Given the description of an element on the screen output the (x, y) to click on. 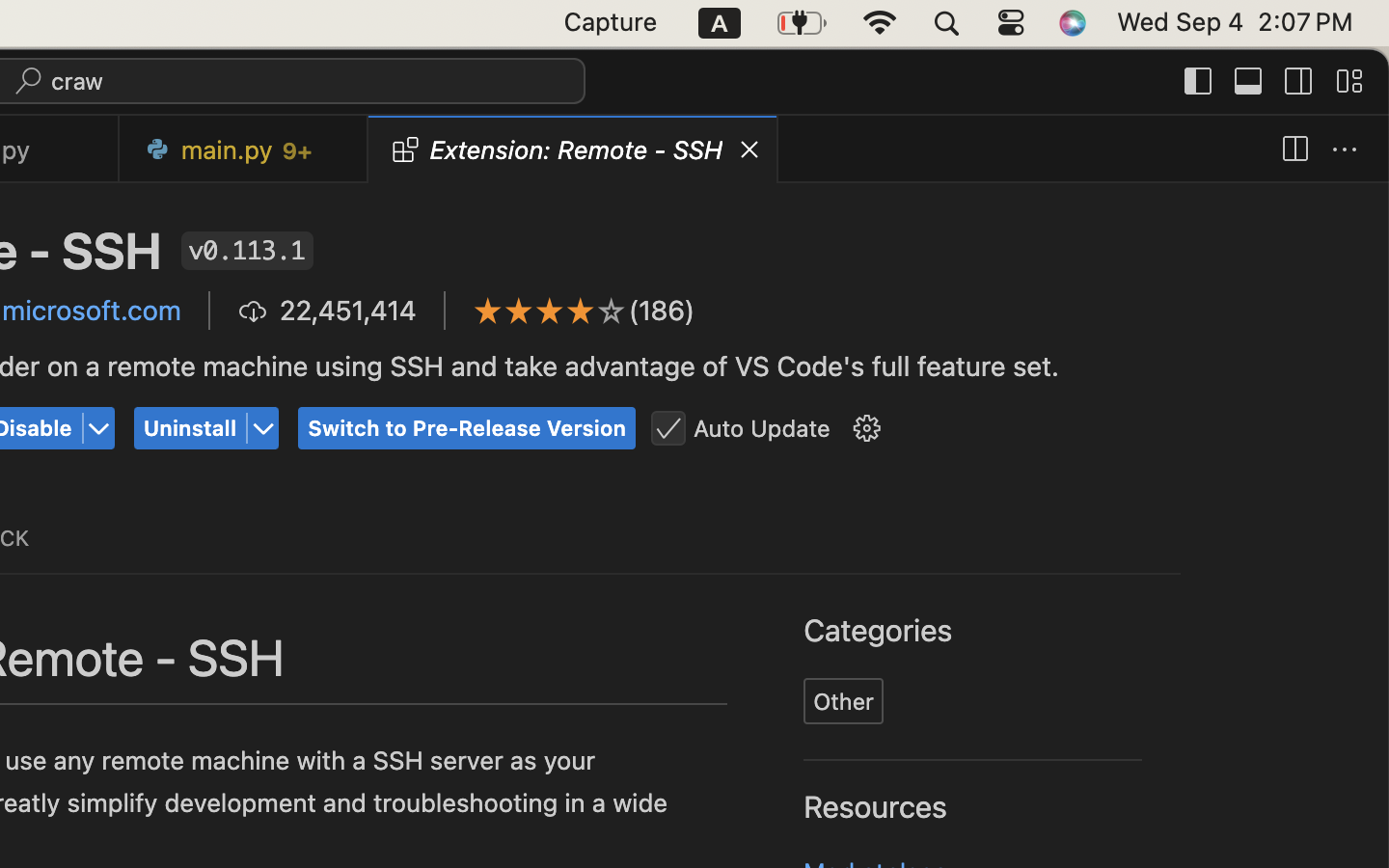
22,451,414  Element type: AXGroup (326, 310)
Categories Element type: AXStaticText (878, 631)
(186) Element type: AXStaticText (662, 310)
microsoft.com Element type: AXStaticText (91, 310)
Auto Update Element type: AXStaticText (761, 428)
